Given the description of an element on the screen output the (x, y) to click on. 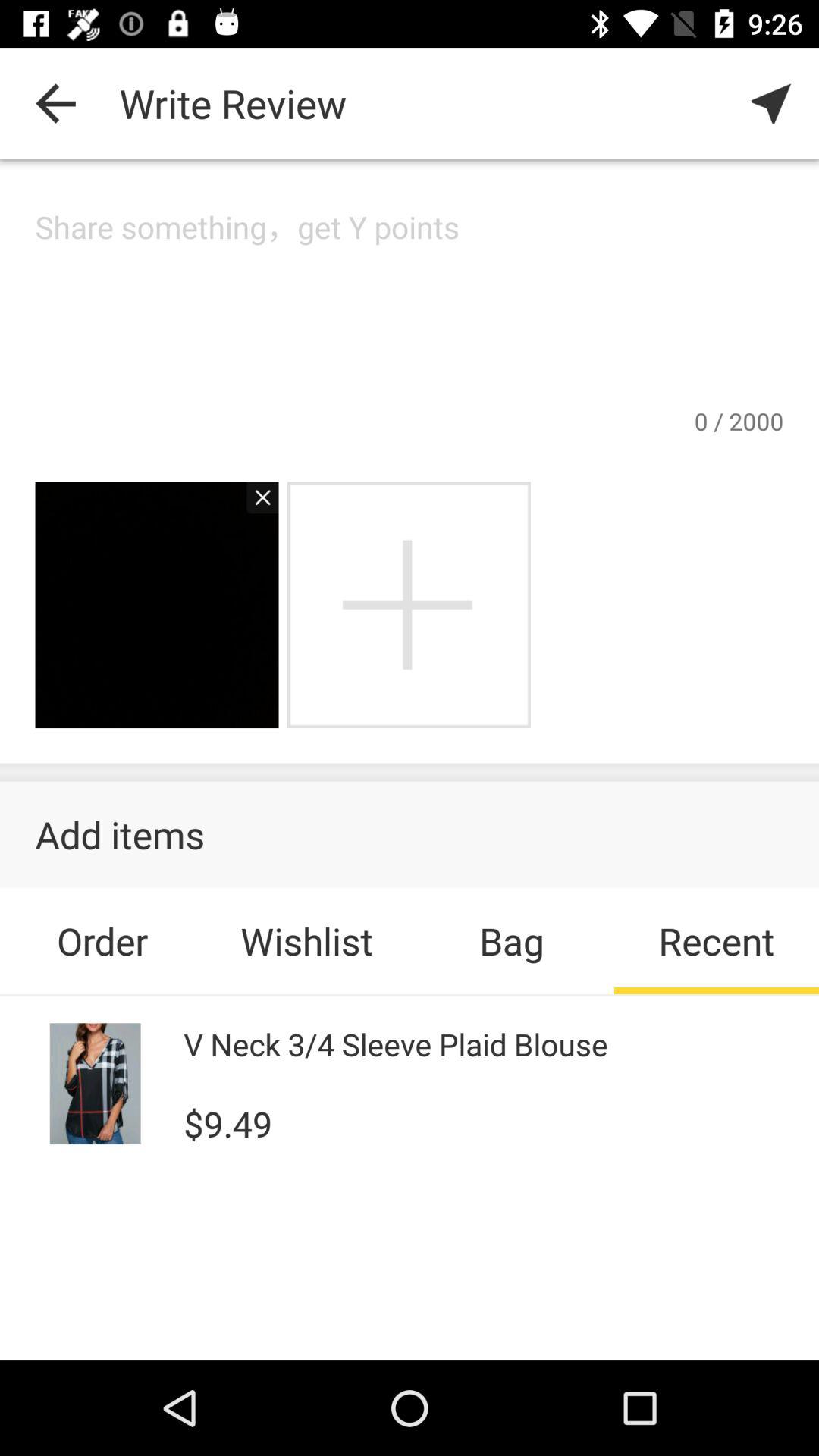
close picture (254, 505)
